Given the description of an element on the screen output the (x, y) to click on. 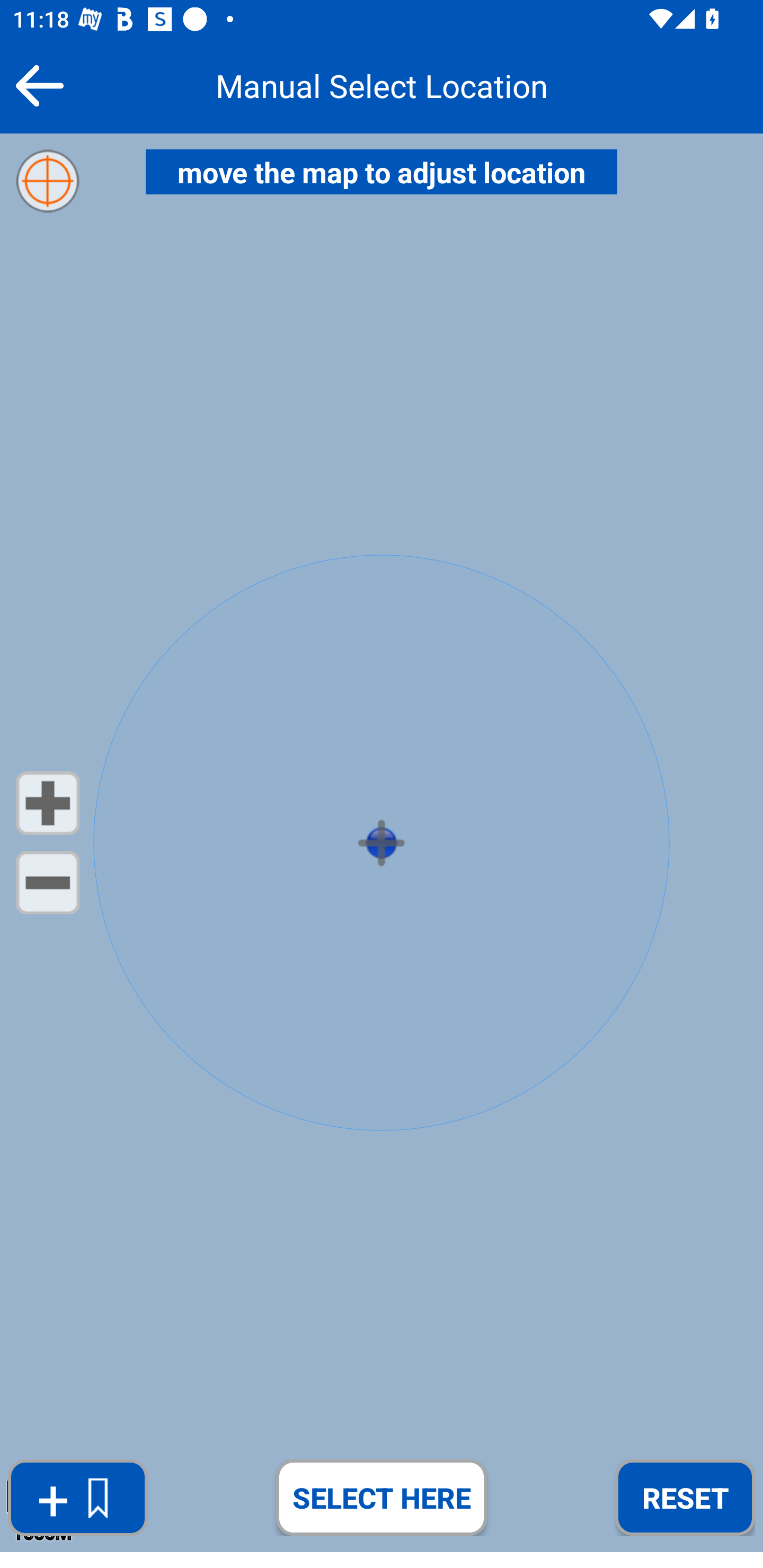
Back (39, 85)
Add bookmark (77, 1497)
SELECT HERE (381, 1497)
RESET (684, 1497)
